Given the description of an element on the screen output the (x, y) to click on. 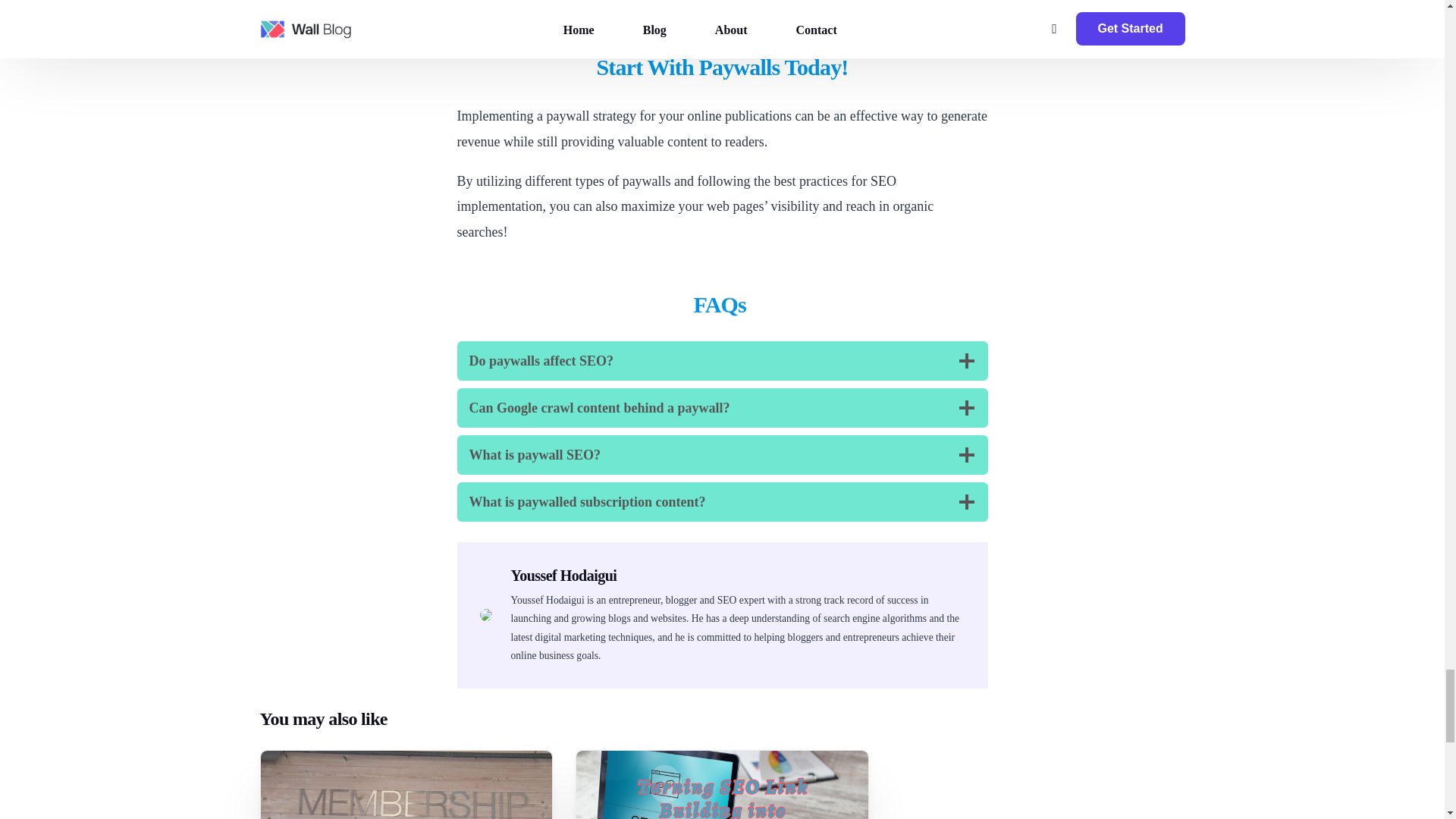
Youssef Hodaigui (564, 575)
Can Google crawl content behind a paywall? (722, 407)
What is paywalled subscription content? (722, 501)
Posts by Youssef Hodaigui (564, 575)
What is paywall SEO? (722, 454)
Do paywalls affect SEO? (722, 360)
